Given the description of an element on the screen output the (x, y) to click on. 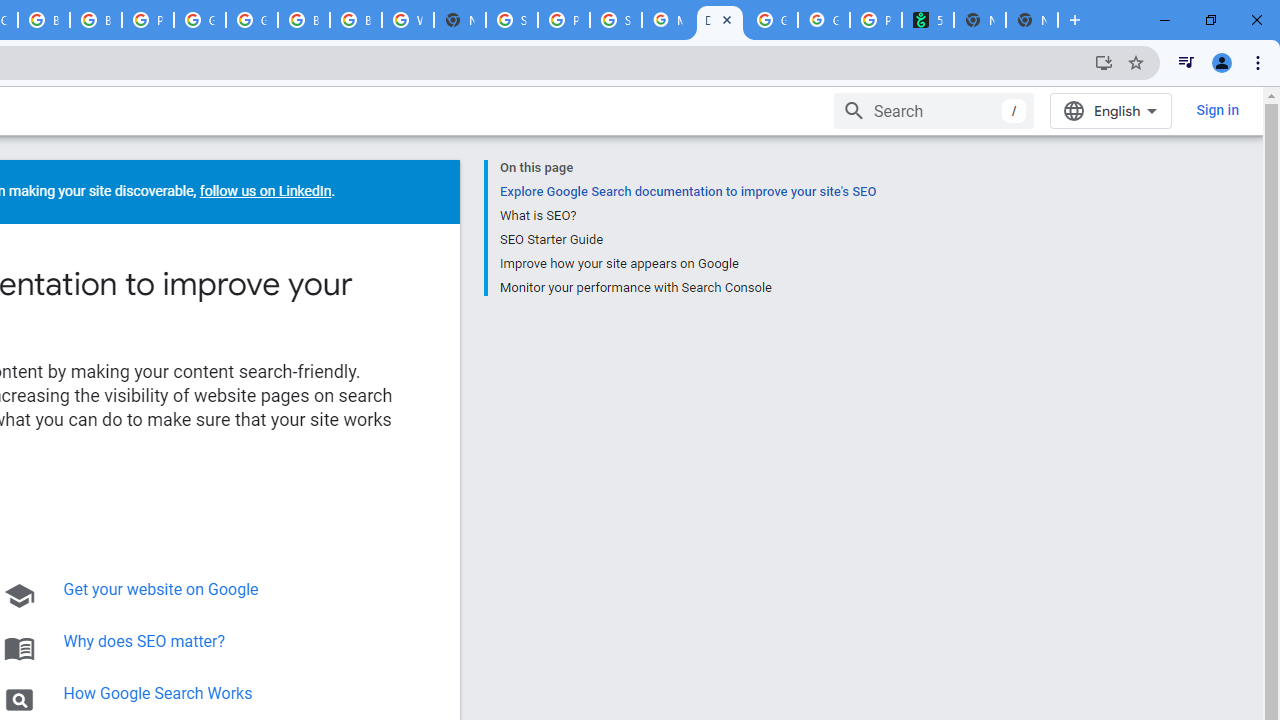
Google Cloud Platform (200, 20)
New Tab (1032, 20)
New Tab (459, 20)
